Given the description of an element on the screen output the (x, y) to click on. 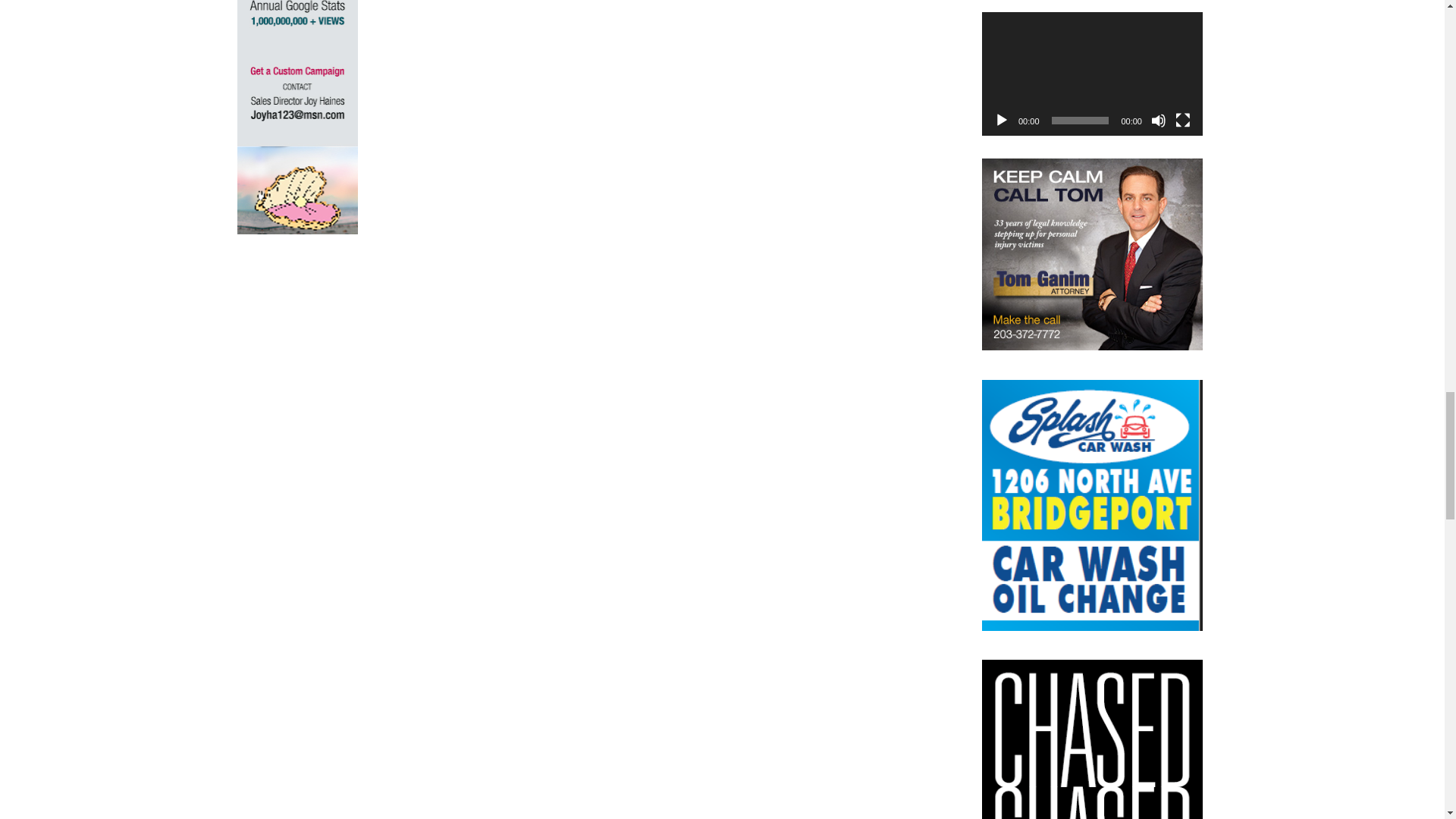
Mute (1158, 120)
Fullscreen (1182, 120)
Play (1001, 120)
